Given the description of an element on the screen output the (x, y) to click on. 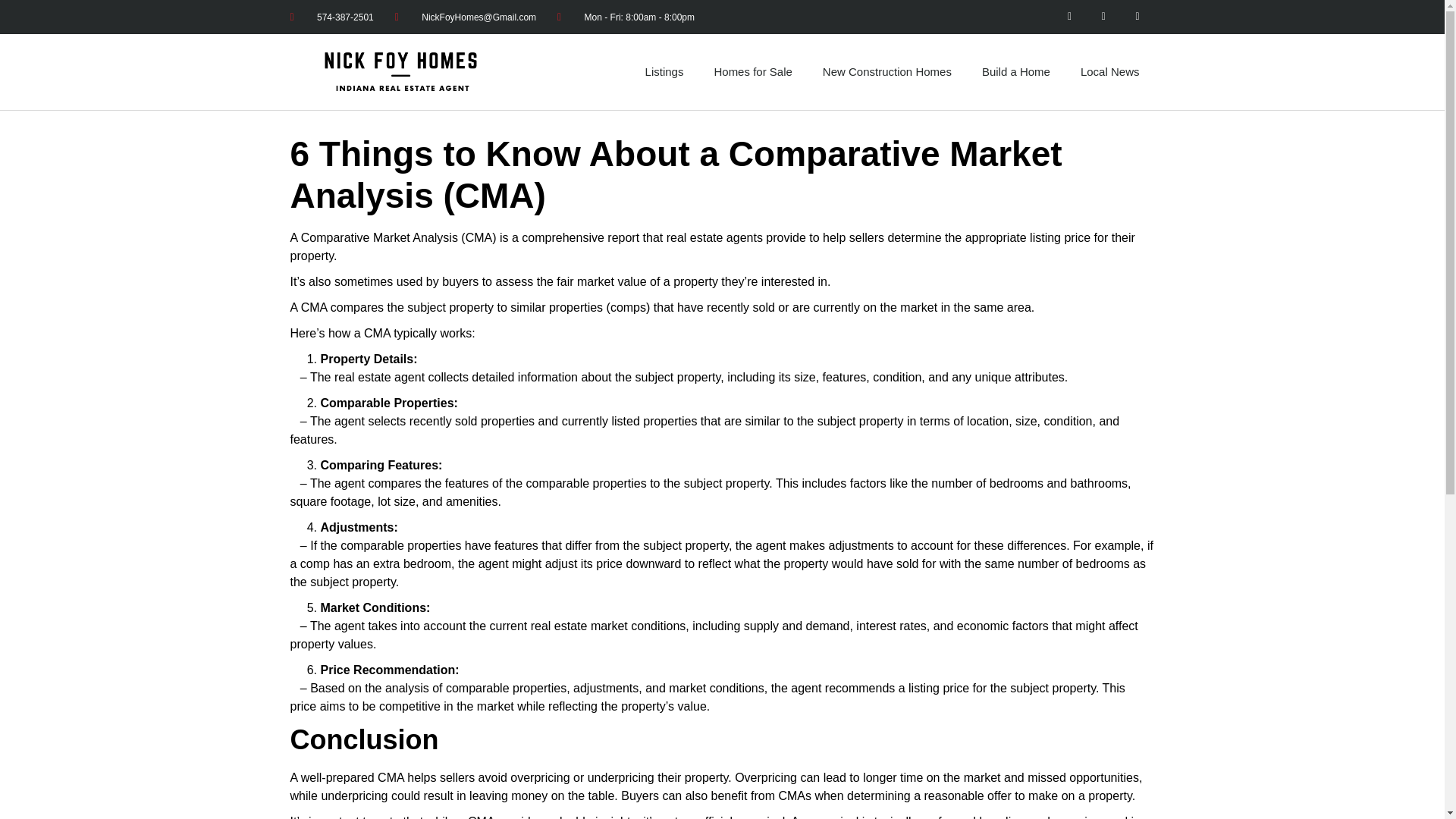
New Construction Homes (887, 71)
Listings (664, 71)
Homes for Sale (752, 71)
